Given the description of an element on the screen output the (x, y) to click on. 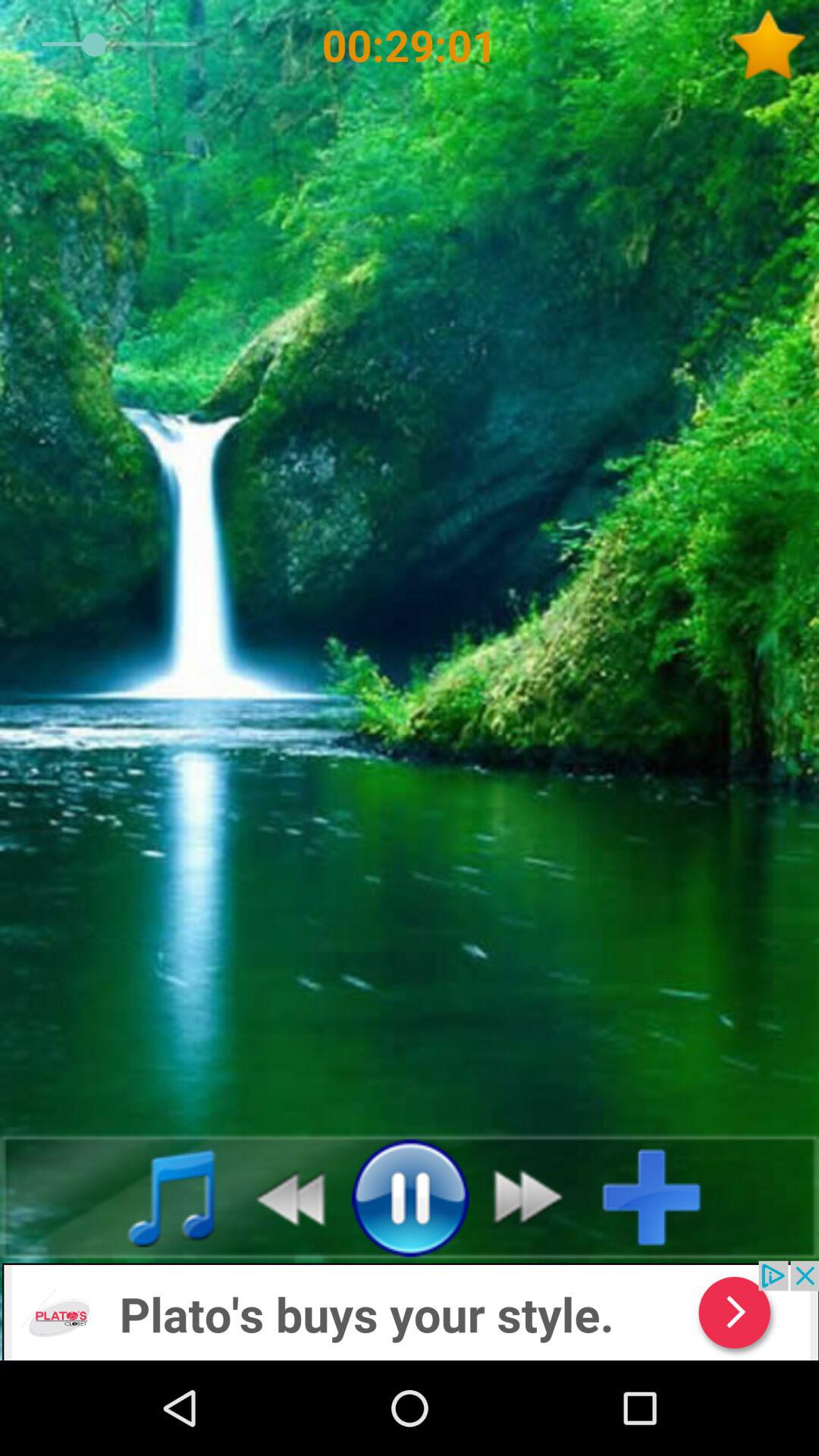
star this picture (774, 44)
